Given the description of an element on the screen output the (x, y) to click on. 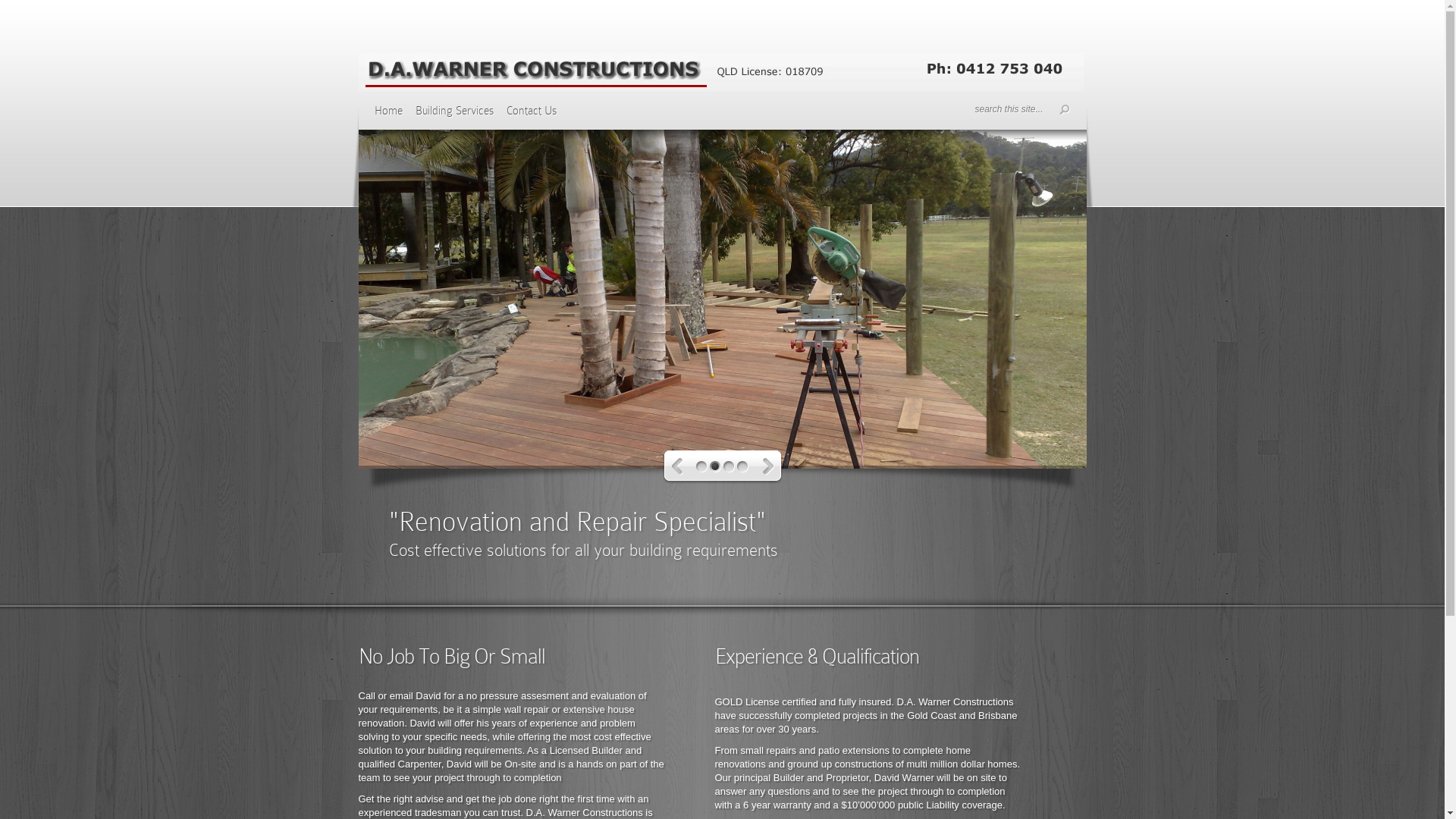
Contact Us Element type: text (531, 115)
3 Element type: text (728, 466)
4 Element type: text (742, 466)
Home Element type: text (388, 115)
Building Services Element type: text (454, 115)
Previous Element type: text (677, 466)
2 Element type: text (715, 466)
Next Element type: text (768, 466)
1 Element type: text (701, 466)
